Given the description of an element on the screen output the (x, y) to click on. 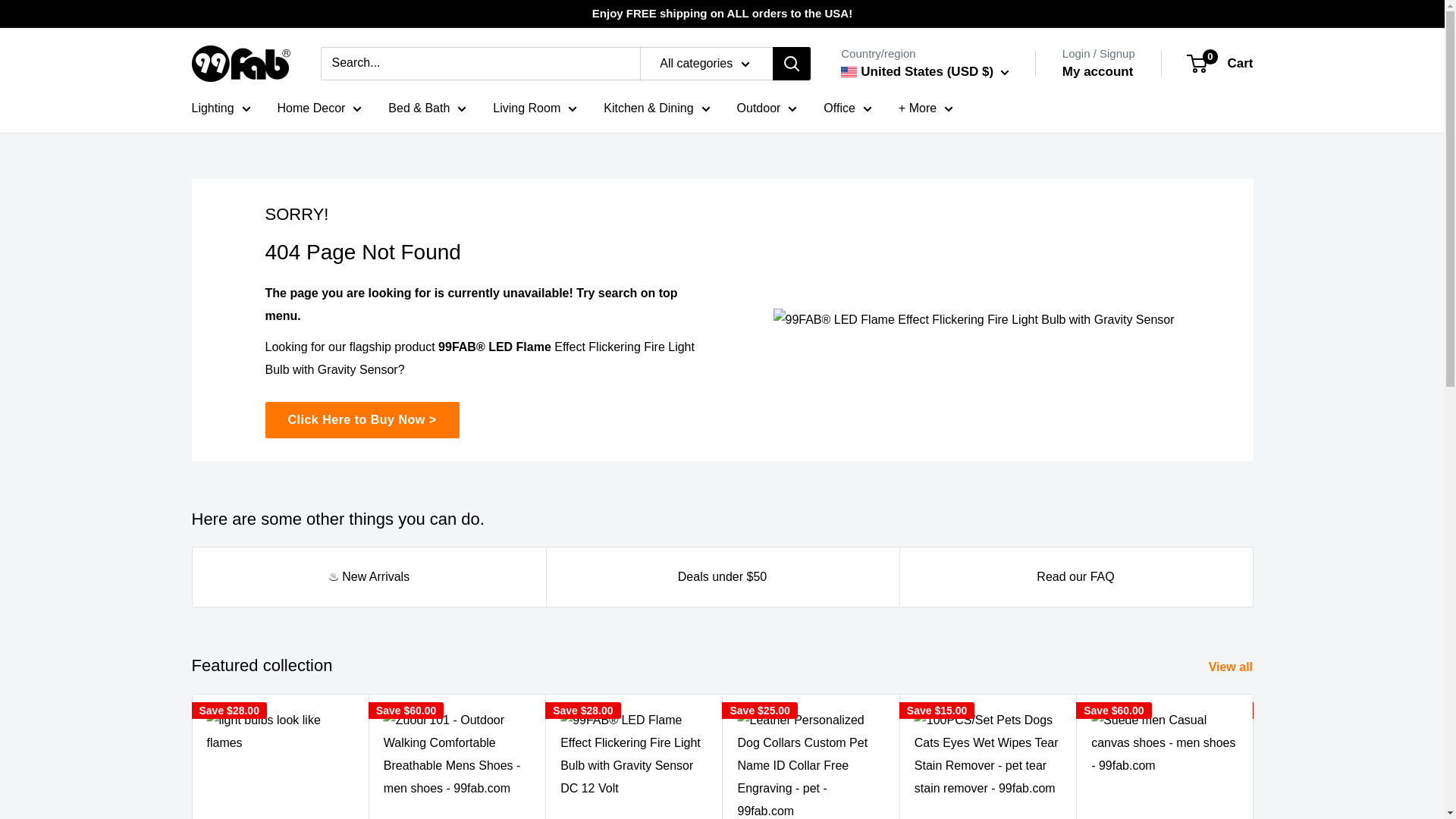
Enjoy FREE shipping on ALL orders to the USA! (721, 13)
